Given the description of an element on the screen output the (x, y) to click on. 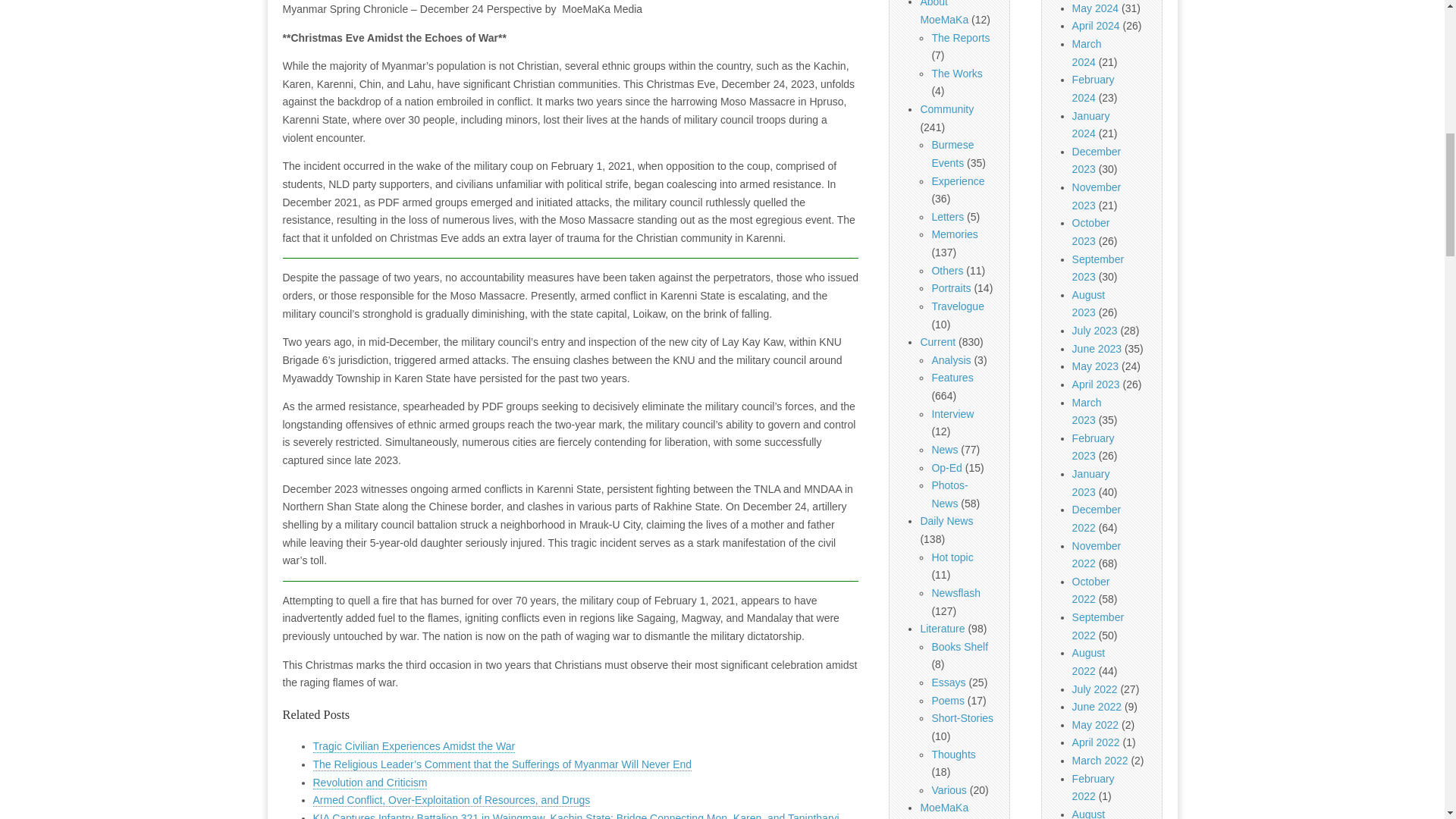
Revolution and Criticism (369, 782)
The Works of MoeMaKa (956, 73)
Letters from the readers and contributors (947, 216)
Tragic Civilian Experiences Amidst the War (414, 746)
The Reports of MoeMaKa (960, 37)
Armed Conflict, Over-Exploitation of Resources, and Drugs (451, 799)
The Life and struggle of Burmese in overseas (952, 153)
About MoeMaKa (944, 12)
